Given the description of an element on the screen output the (x, y) to click on. 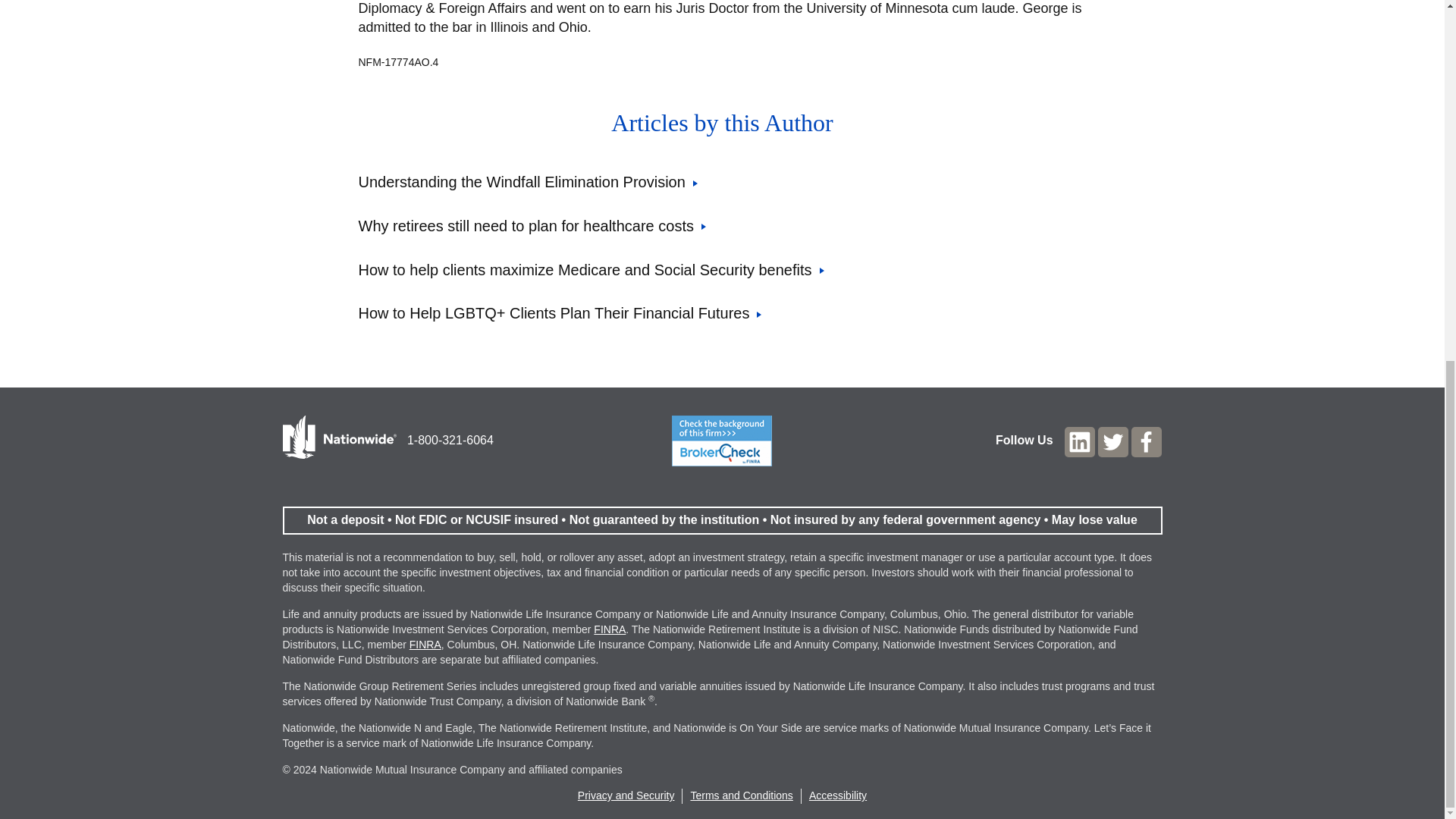
LinkedIn (1079, 441)
1-800-321-6064 (450, 440)
Understanding the Windfall Elimination Provision (527, 181)
Why retirees still need to plan for healthcare costs (531, 226)
